Given the description of an element on the screen output the (x, y) to click on. 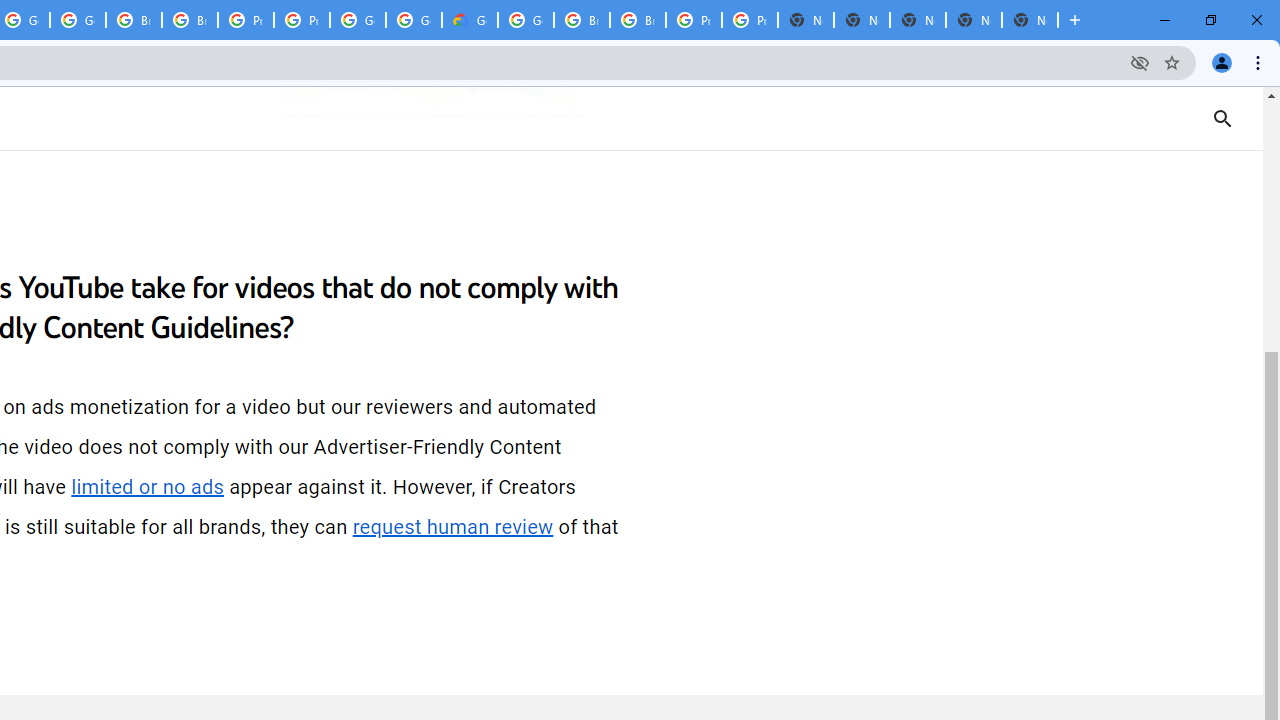
Search (1248, 117)
Google Cloud Platform (413, 20)
Bookmark this tab (1171, 62)
You (1221, 62)
Google Cloud Platform (358, 20)
Chrome (1260, 62)
Browse Chrome as a guest - Computer - Google Chrome Help (189, 20)
request human review (453, 527)
New Tab (1030, 20)
Google Cloud Platform (525, 20)
